Given the description of an element on the screen output the (x, y) to click on. 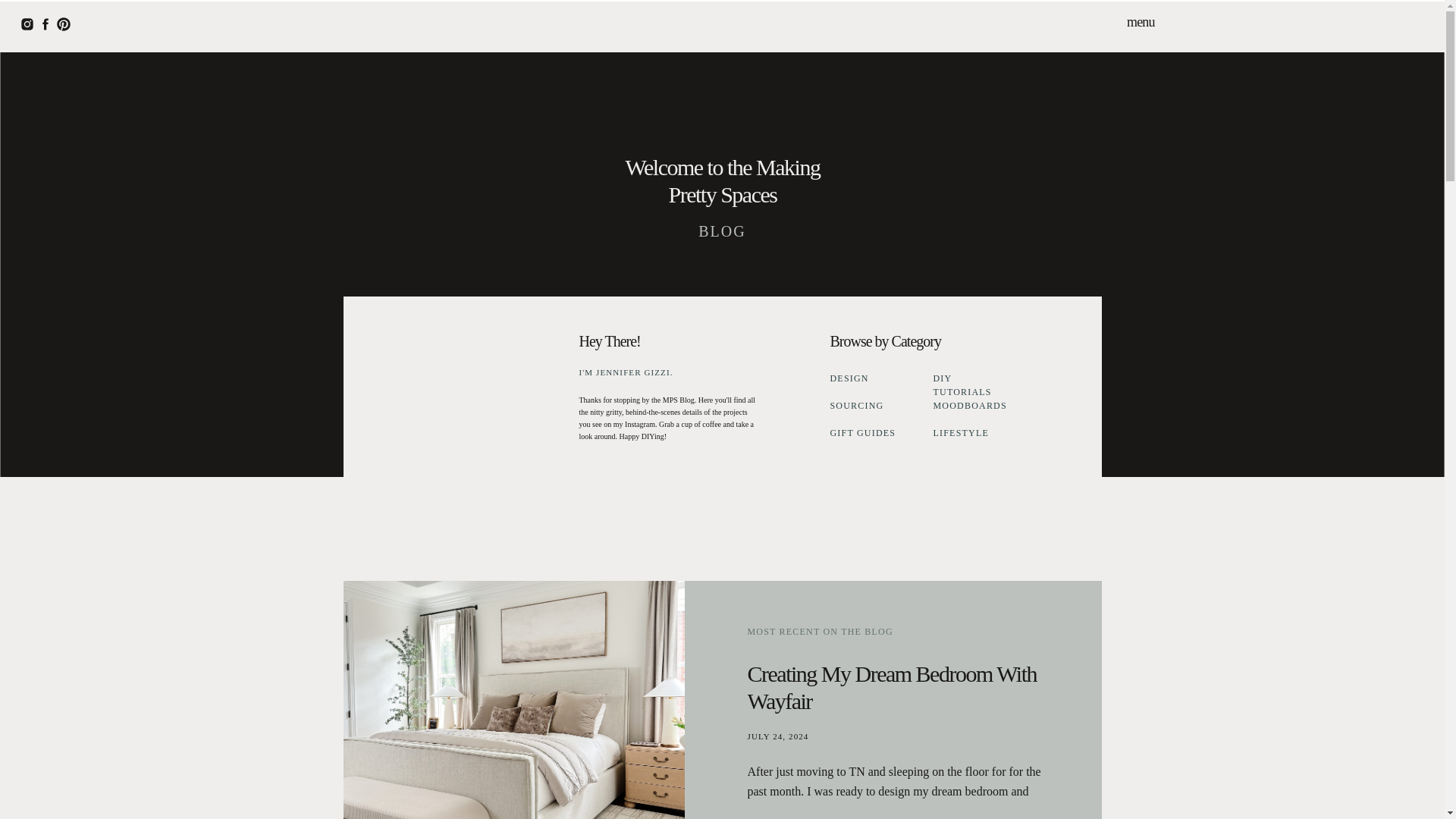
DIY TUTORIALS (972, 376)
Creating My Dream Bedroom With Wayfair (513, 699)
DESIGN (852, 376)
GIFT GUIDES (870, 430)
SOURCING (857, 403)
MOODBOARDS (970, 403)
Creating My Dream Bedroom With Wayfair (892, 686)
LIFESTYLE (982, 430)
